Given the description of an element on the screen output the (x, y) to click on. 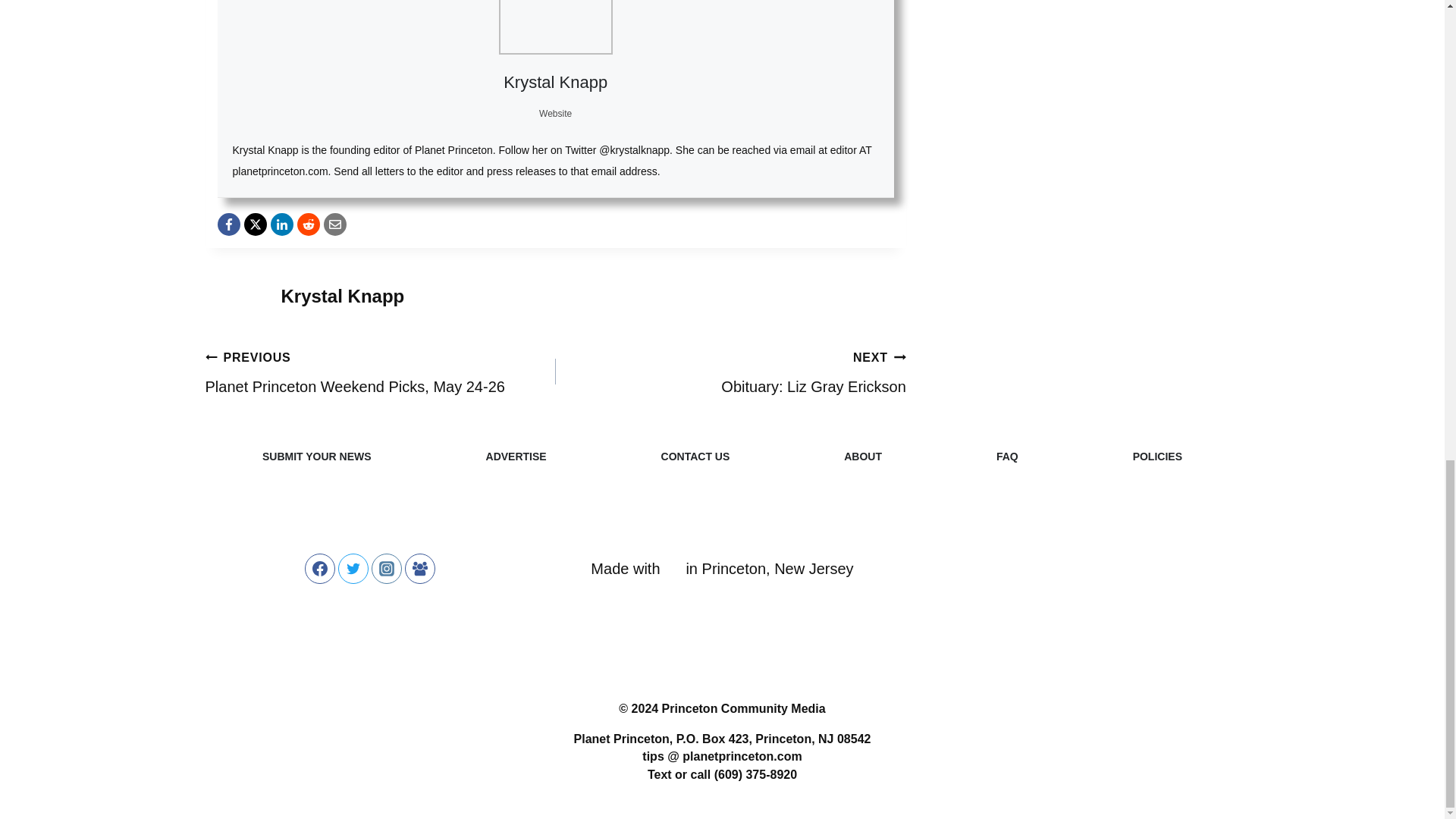
Krystal Knapp (555, 81)
Website (555, 113)
